Given the description of an element on the screen output the (x, y) to click on. 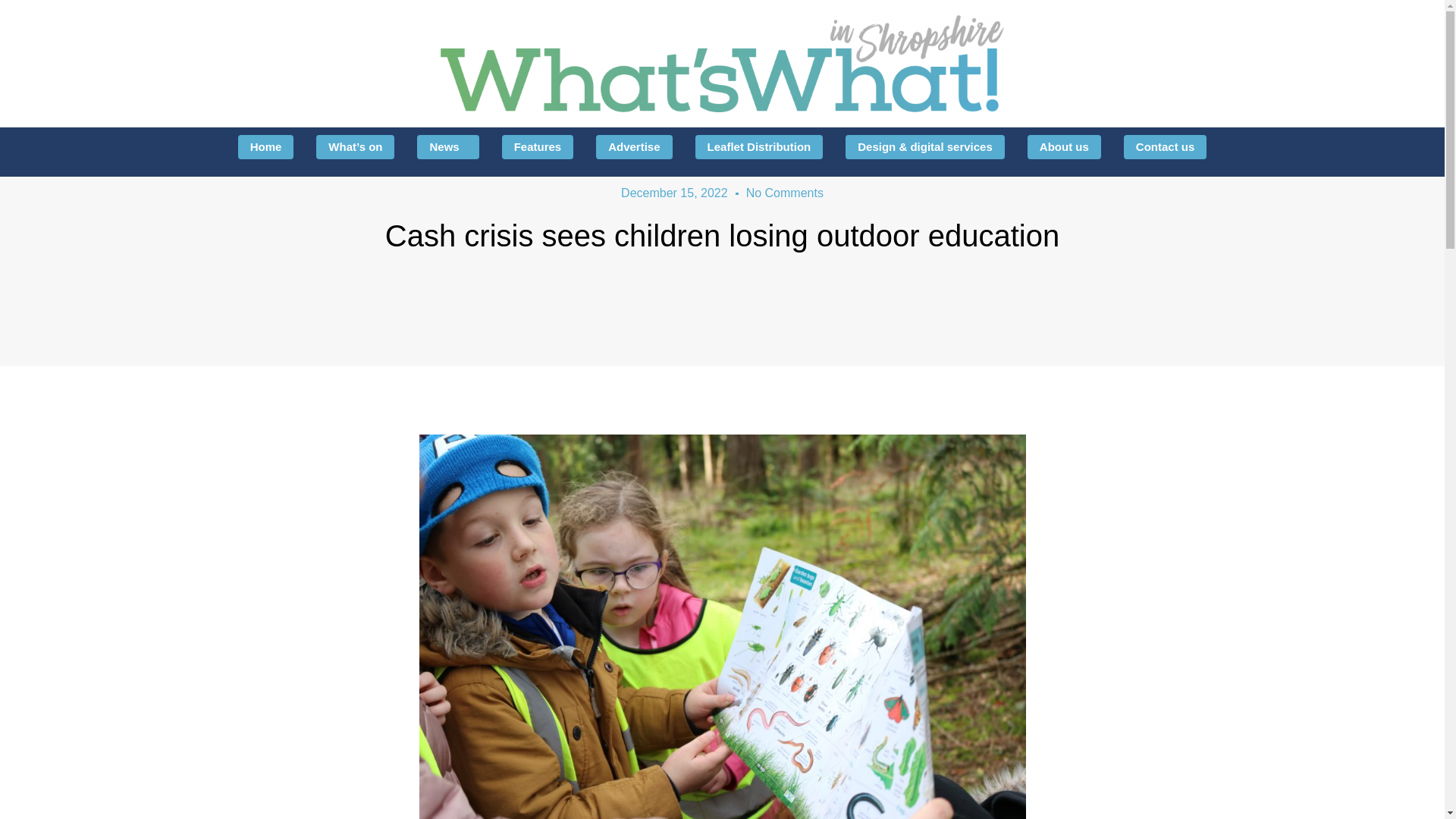
About us (1063, 146)
News (447, 146)
Leaflet Distribution (759, 146)
No Comments (784, 193)
Contact us (1165, 146)
Advertise (633, 146)
Home (266, 146)
Features (537, 146)
December 15, 2022 (674, 193)
